Given the description of an element on the screen output the (x, y) to click on. 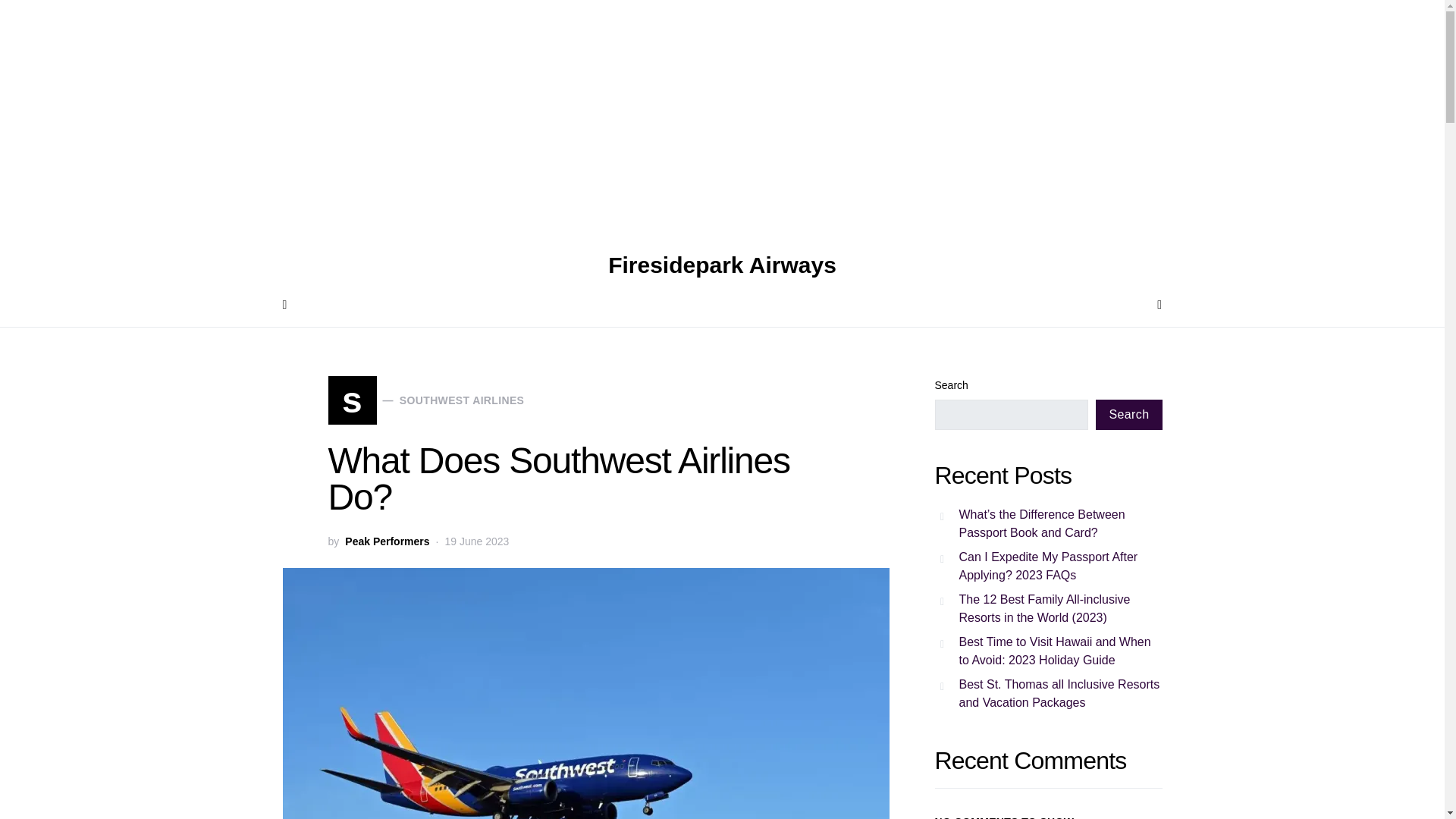
View all posts by Peak Performers (387, 541)
Peak Performers (387, 541)
Firesidepark Airways (721, 264)
